Given the description of an element on the screen output the (x, y) to click on. 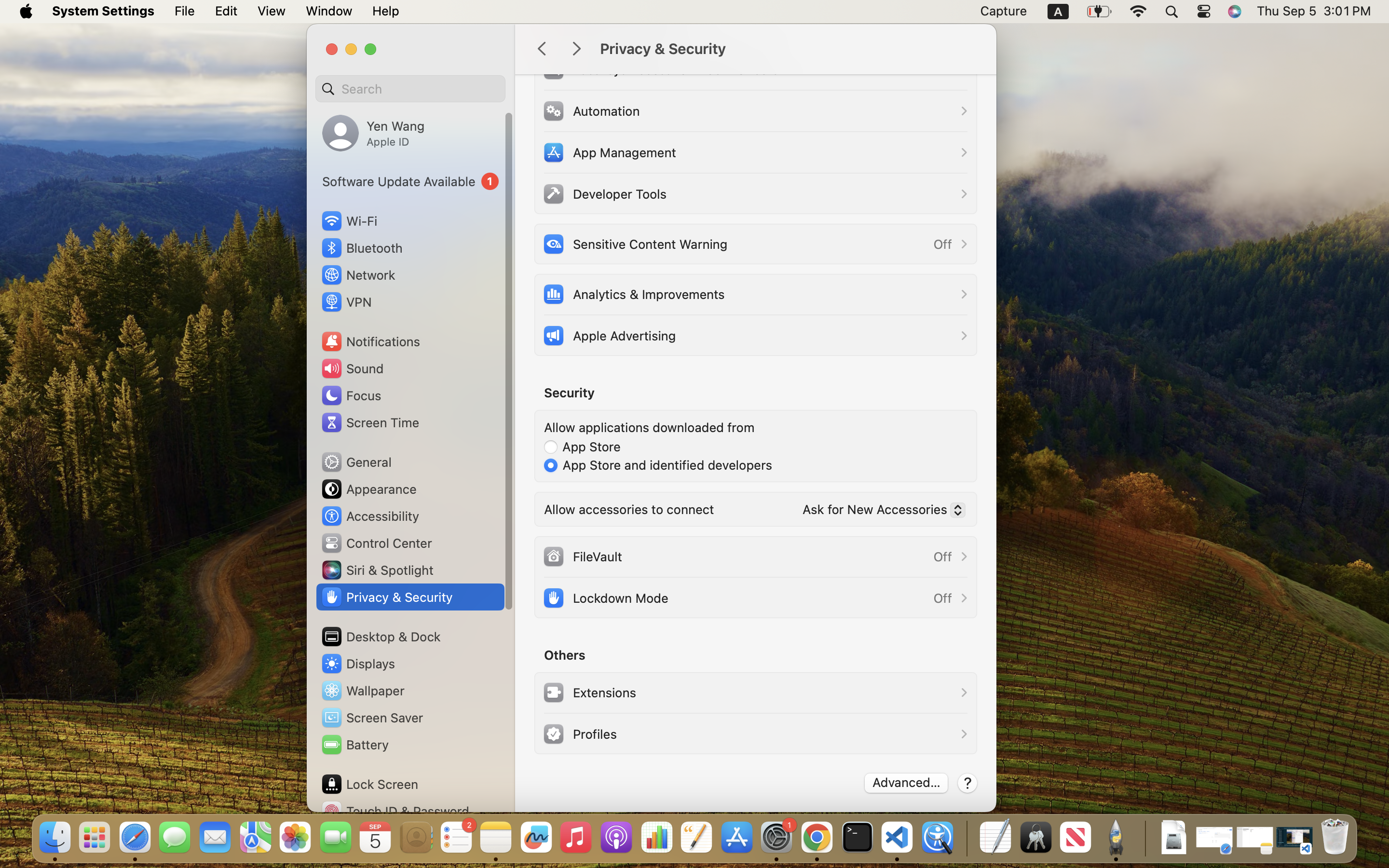
Touch ID & Password Element type: AXStaticText (394, 810)
Focus Element type: AXStaticText (350, 394)
Screen Saver Element type: AXStaticText (371, 717)
Allow applications downloaded from Element type: AXStaticText (649, 426)
